Given the description of an element on the screen output the (x, y) to click on. 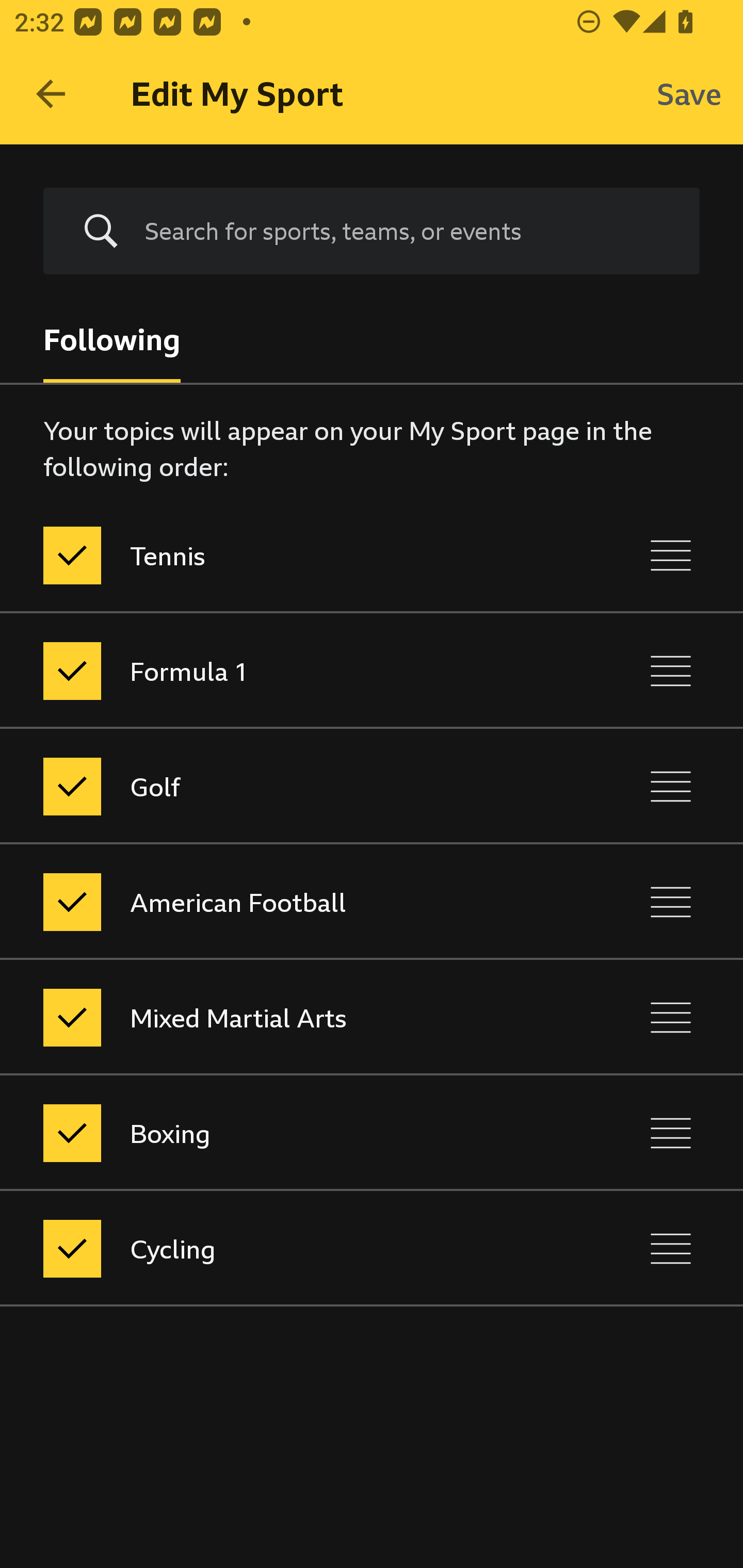
Navigate up (50, 93)
Save (689, 93)
Search for sports, teams, or events (371, 231)
Search for sports, teams, or events (407, 231)
Tennis (284, 555)
Reorder Tennis (670, 555)
Formula 1 (284, 671)
Reorder Formula 1 (670, 671)
Golf (284, 786)
Reorder Golf (670, 786)
American Football (284, 901)
Reorder American Football (670, 901)
Mixed Martial Arts (284, 1017)
Reorder Mixed Martial Arts (670, 1017)
Boxing (284, 1133)
Reorder Boxing (670, 1133)
Cycling (284, 1248)
Reorder Cycling (670, 1248)
